Given the description of an element on the screen output the (x, y) to click on. 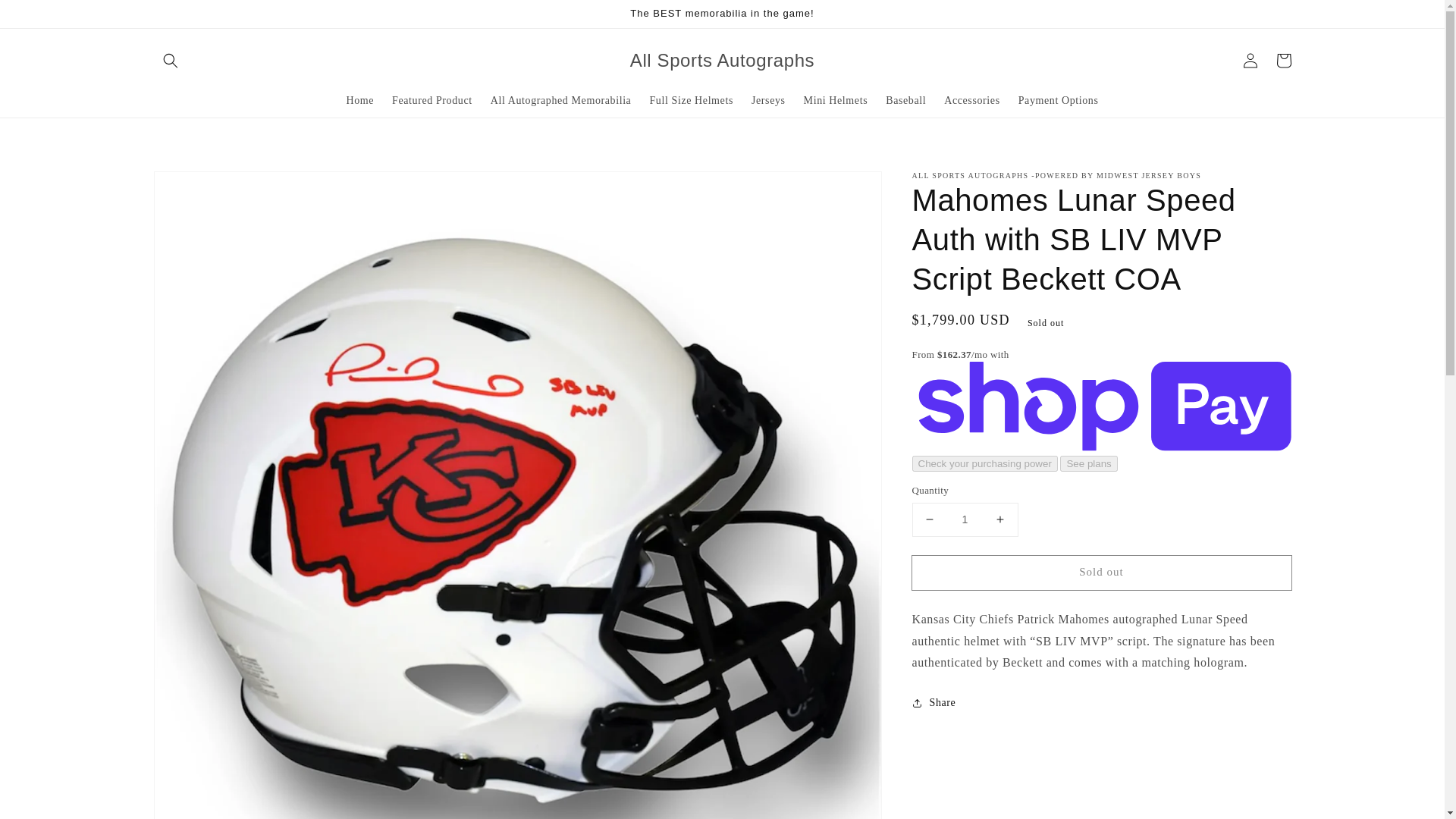
Skip to product information (198, 187)
Payment Options (1058, 101)
All Autographed Memorabilia (560, 101)
Featured Product (431, 101)
Full Size Helmets (691, 101)
Jerseys (768, 101)
Accessories (971, 101)
1 (964, 519)
Home (359, 101)
